Given the description of an element on the screen output the (x, y) to click on. 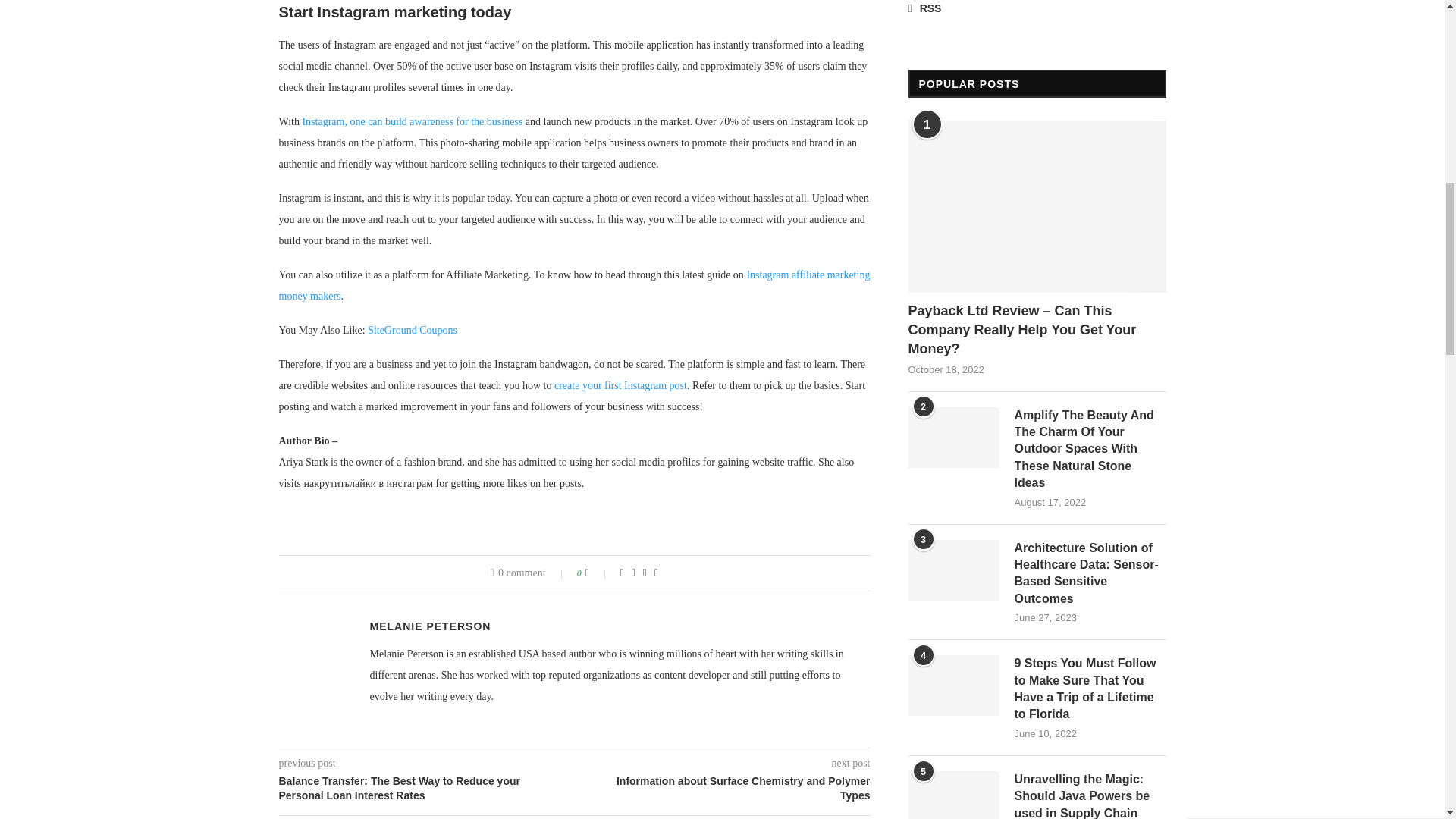
Like (597, 573)
Posts by Melanie Peterson (430, 625)
